Given the description of an element on the screen output the (x, y) to click on. 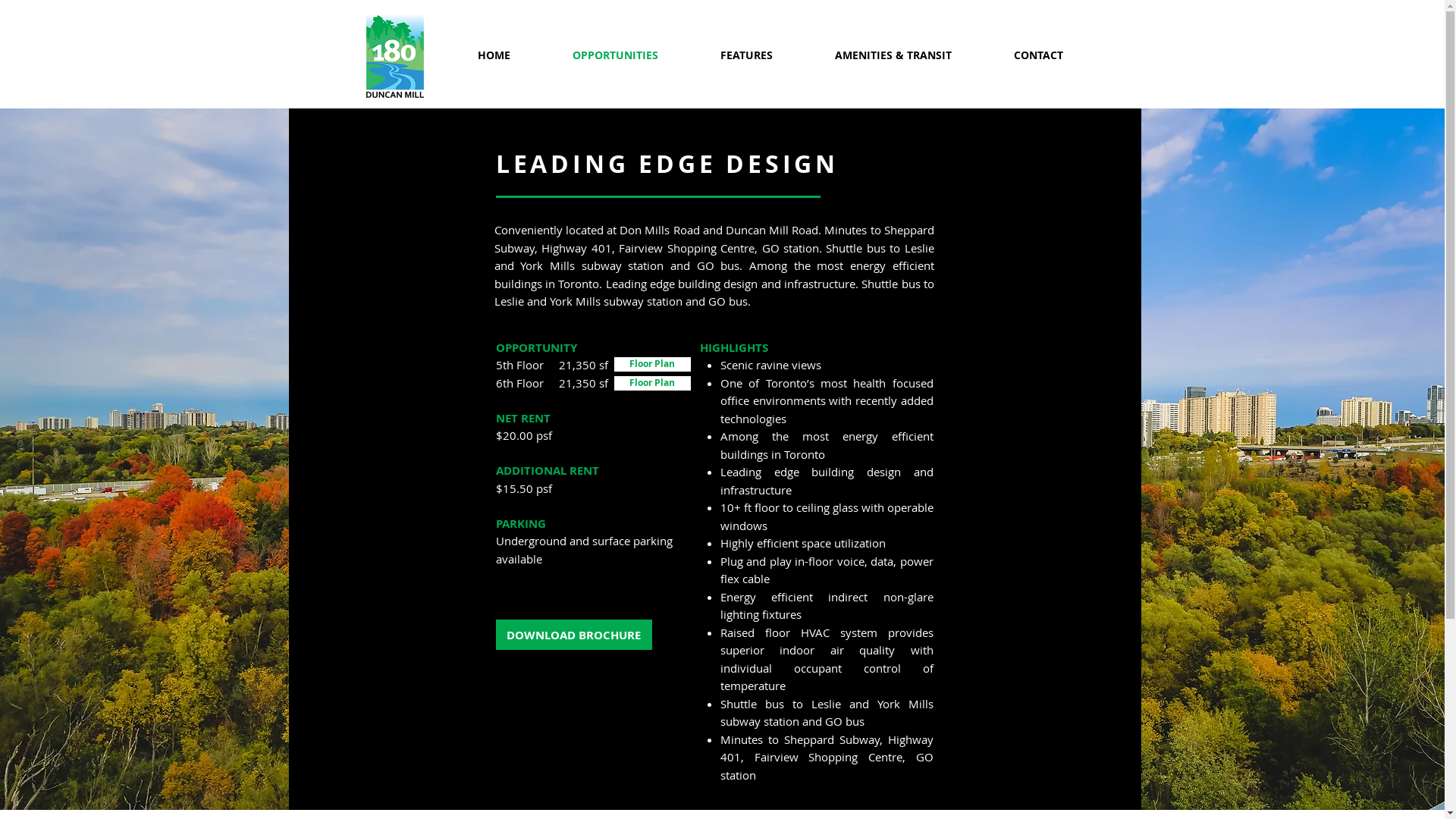
CONTACT Element type: text (1038, 54)
HOME Element type: text (492, 54)
AMENITIES & TRANSIT Element type: text (892, 54)
DOWNLOAD BROCHURE Element type: text (573, 634)
Floor Plan Element type: text (652, 383)
FEATURES Element type: text (745, 54)
Floor Plan Element type: text (652, 363)
OPPORTUNITIES Element type: text (615, 54)
